Given the description of an element on the screen output the (x, y) to click on. 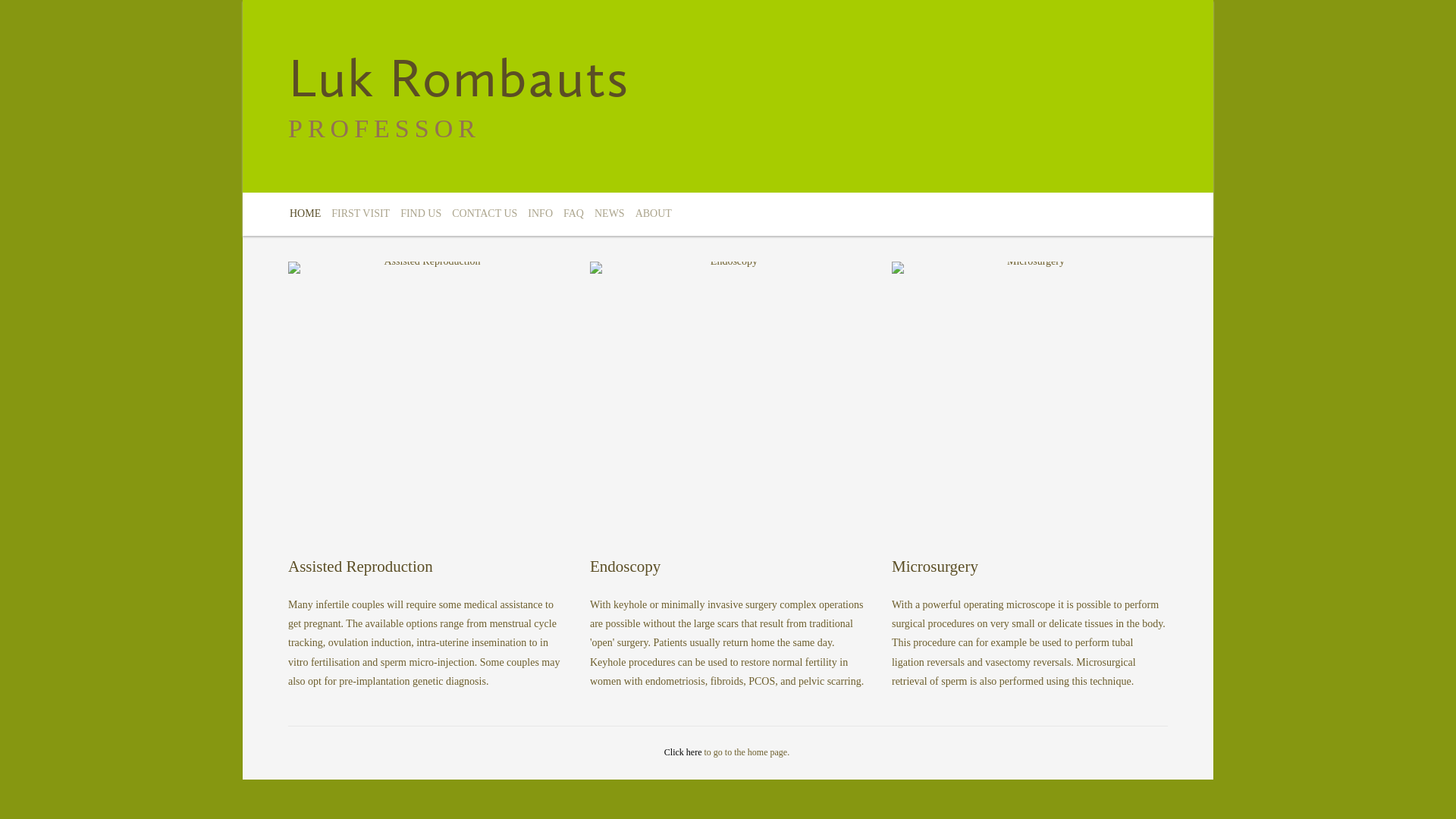
CONTACT US Element type: text (484, 213)
FAQ Element type: text (573, 213)
Click here Element type: text (684, 751)
Luk Rombauts Element type: text (458, 77)
INFO Element type: text (540, 213)
NEWS Element type: text (609, 213)
ABOUT Element type: text (653, 213)
FIRST VISIT Element type: text (360, 213)
HOME Element type: text (305, 213)
FIND US Element type: text (420, 213)
